Given the description of an element on the screen output the (x, y) to click on. 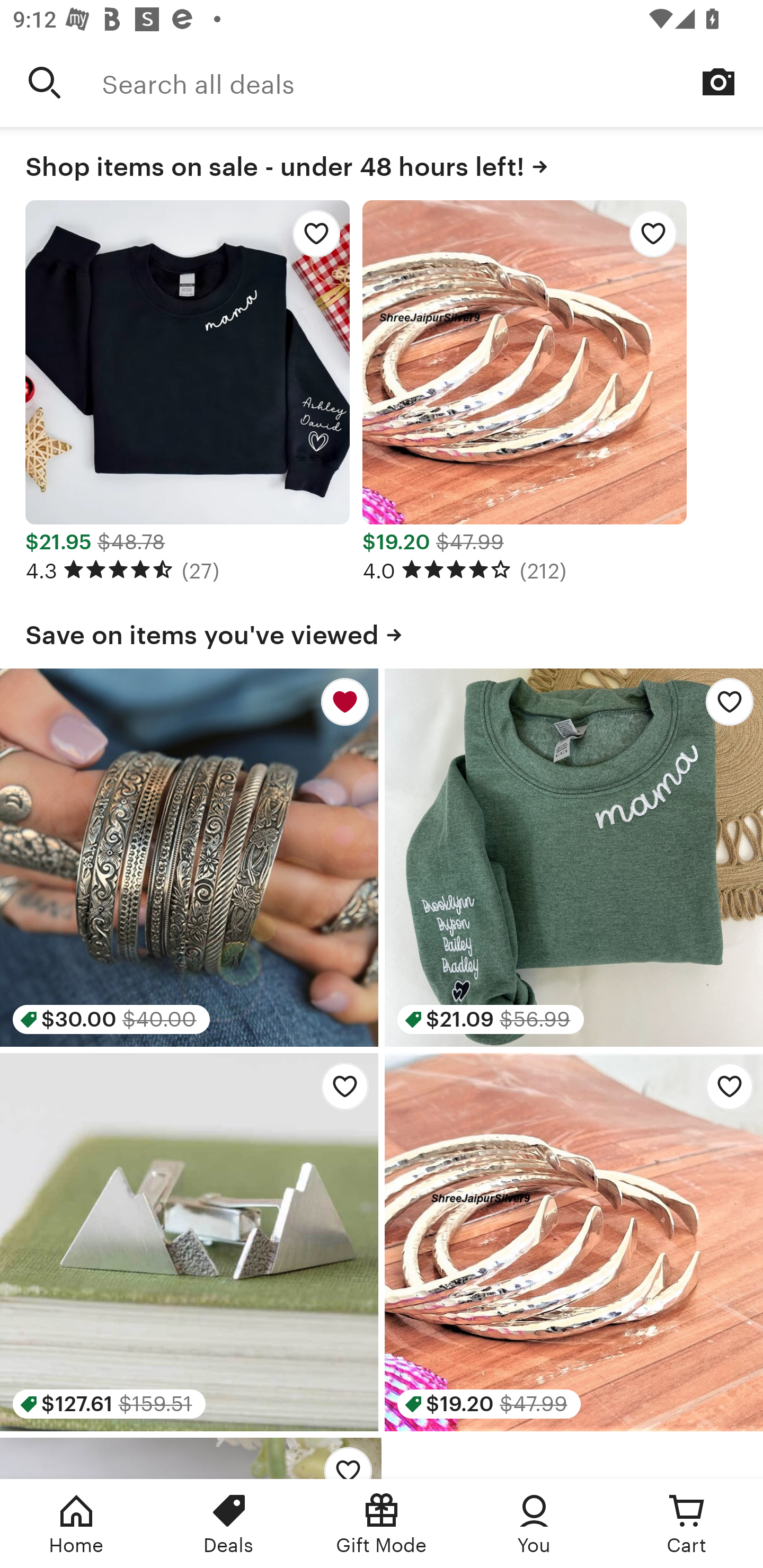
Search for anything on Etsy (44, 82)
Search by image (718, 81)
Search all deals (432, 82)
Shop items on sale - under 48 hours left! (381, 163)
Save on items you've viewed (381, 631)
Home (76, 1523)
Gift Mode (381, 1523)
You (533, 1523)
Cart (686, 1523)
